Given the description of an element on the screen output the (x, y) to click on. 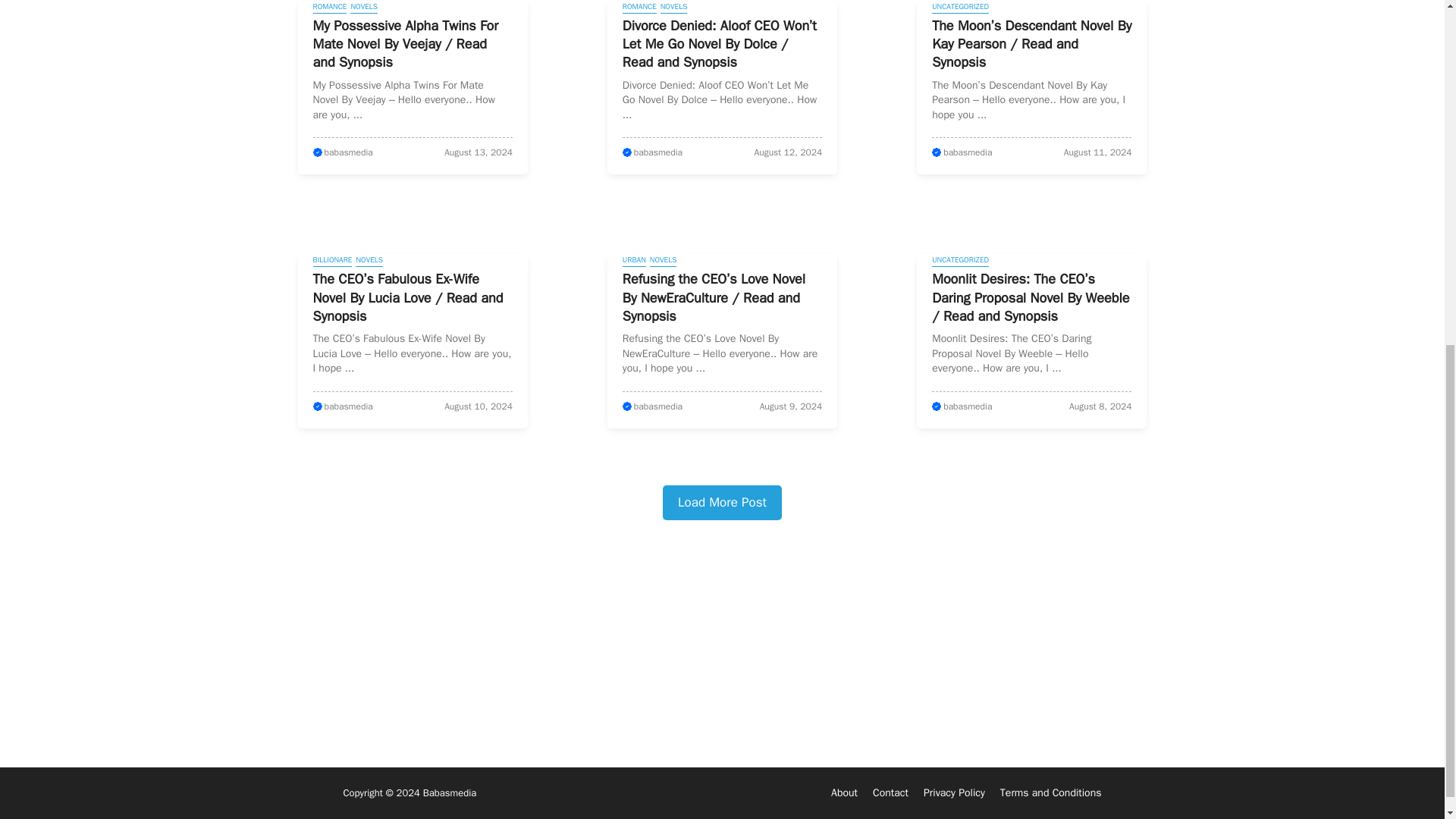
BILLIONARE (332, 260)
ROMANCE (329, 7)
URBAN (634, 260)
UNCATEGORIZED (959, 260)
babasmedia (348, 152)
babasmedia (967, 152)
babasmedia (348, 406)
NOVELS (663, 260)
UNCATEGORIZED (959, 7)
NOVELS (363, 7)
